Given the description of an element on the screen output the (x, y) to click on. 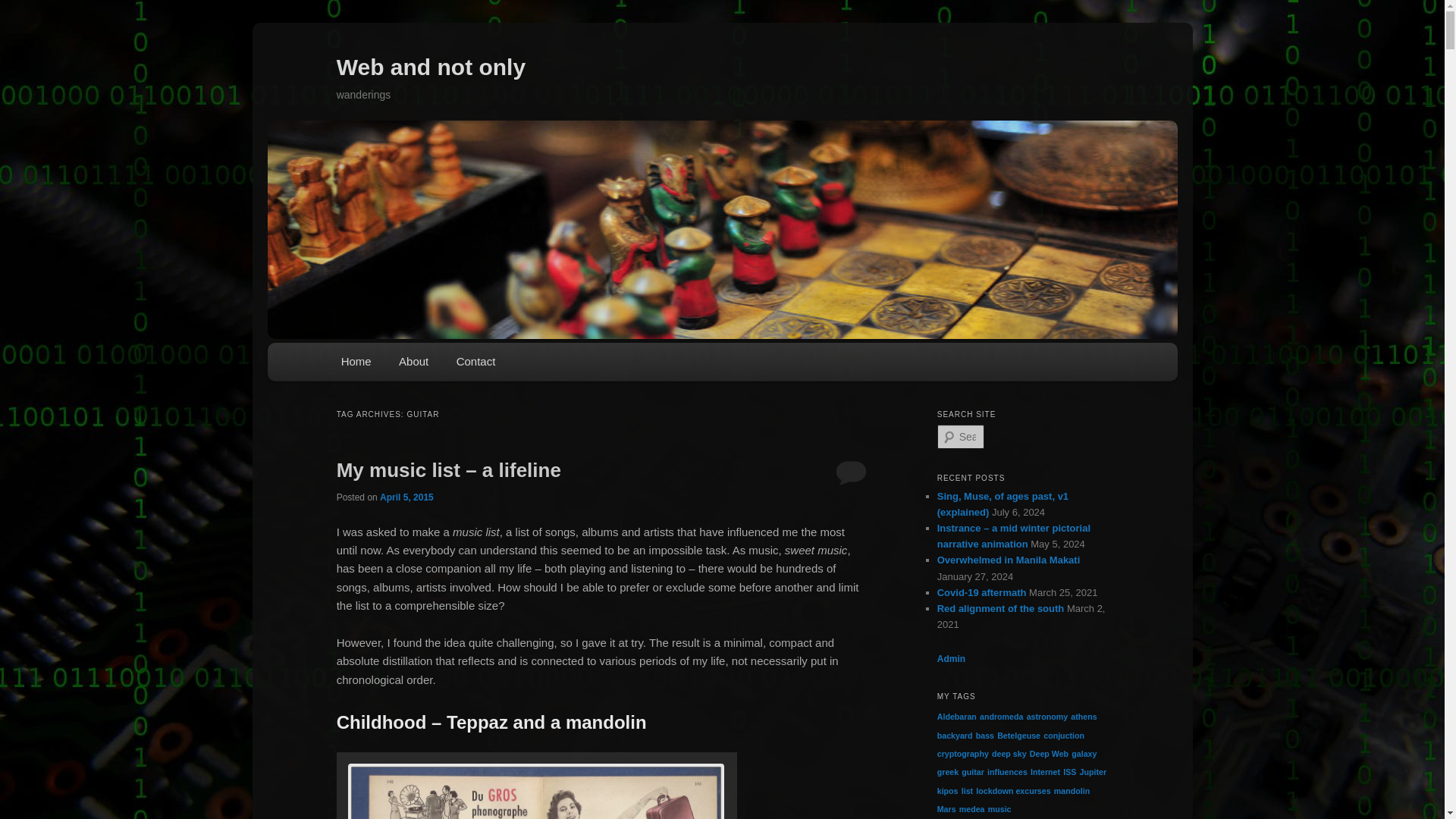
Home (356, 361)
23:11 (406, 497)
Home (356, 361)
About (413, 361)
Web and not only (430, 66)
Music from Teppaz, the portable "electrophone" (536, 789)
April 5, 2015 (406, 497)
Web and not only (430, 66)
Contact (475, 361)
